Given the description of an element on the screen output the (x, y) to click on. 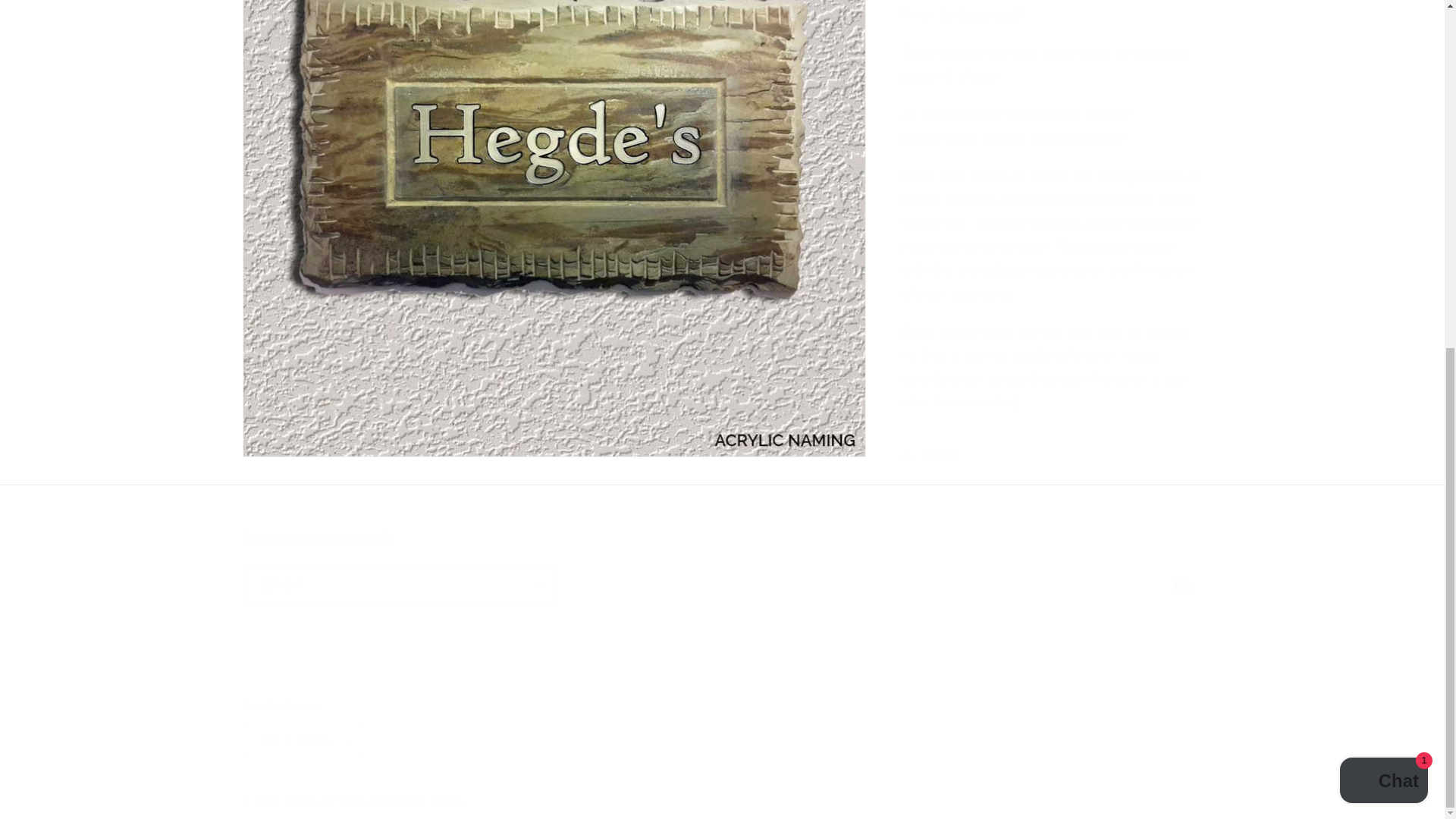
Open media 1 in modal (554, 47)
Instagram (1182, 586)
Shopify online store chat (722, 567)
